Given the description of an element on the screen output the (x, y) to click on. 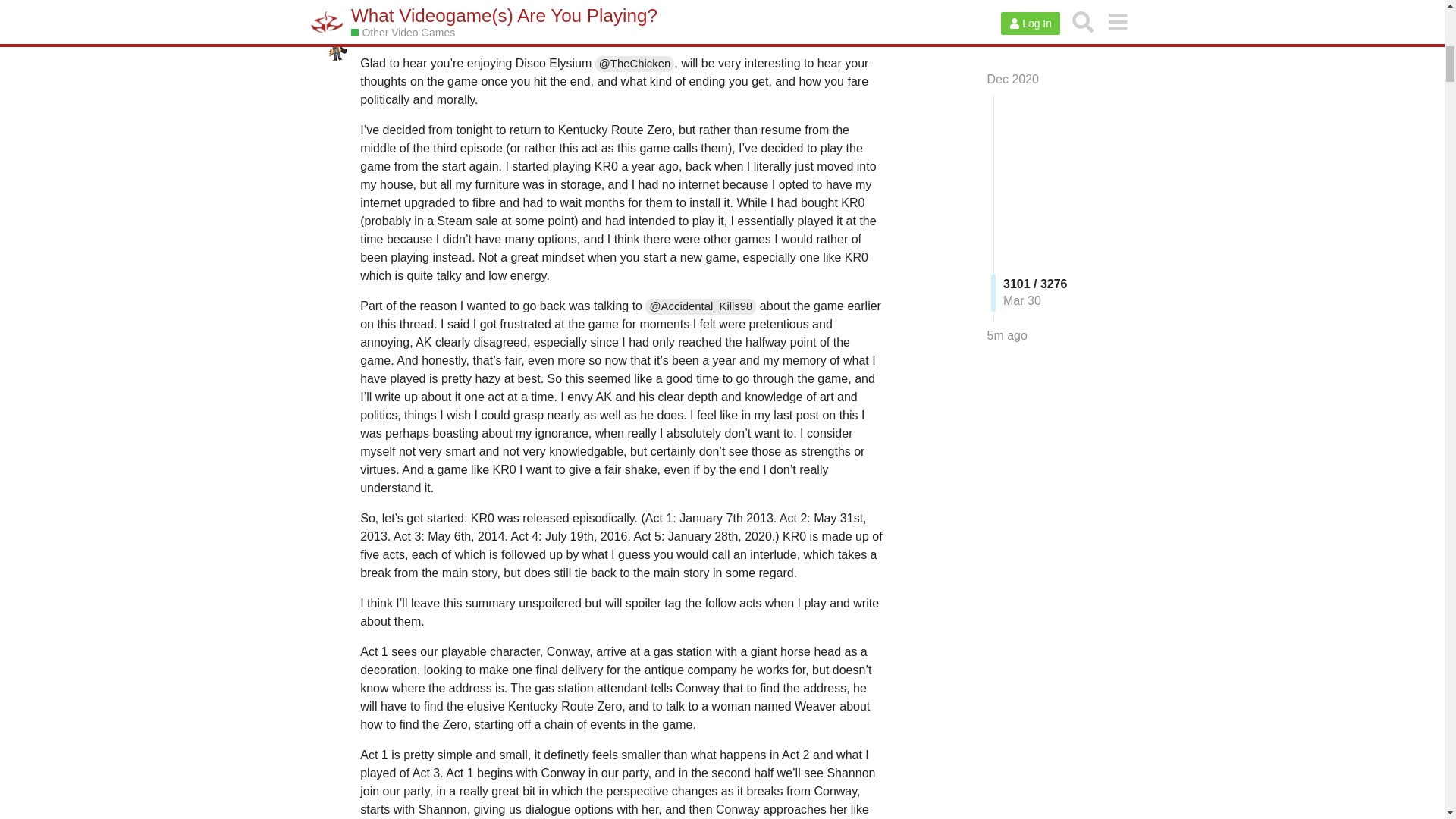
1 (824, 30)
Mar 23 (864, 29)
Silvereyes (389, 30)
